Given the description of an element on the screen output the (x, y) to click on. 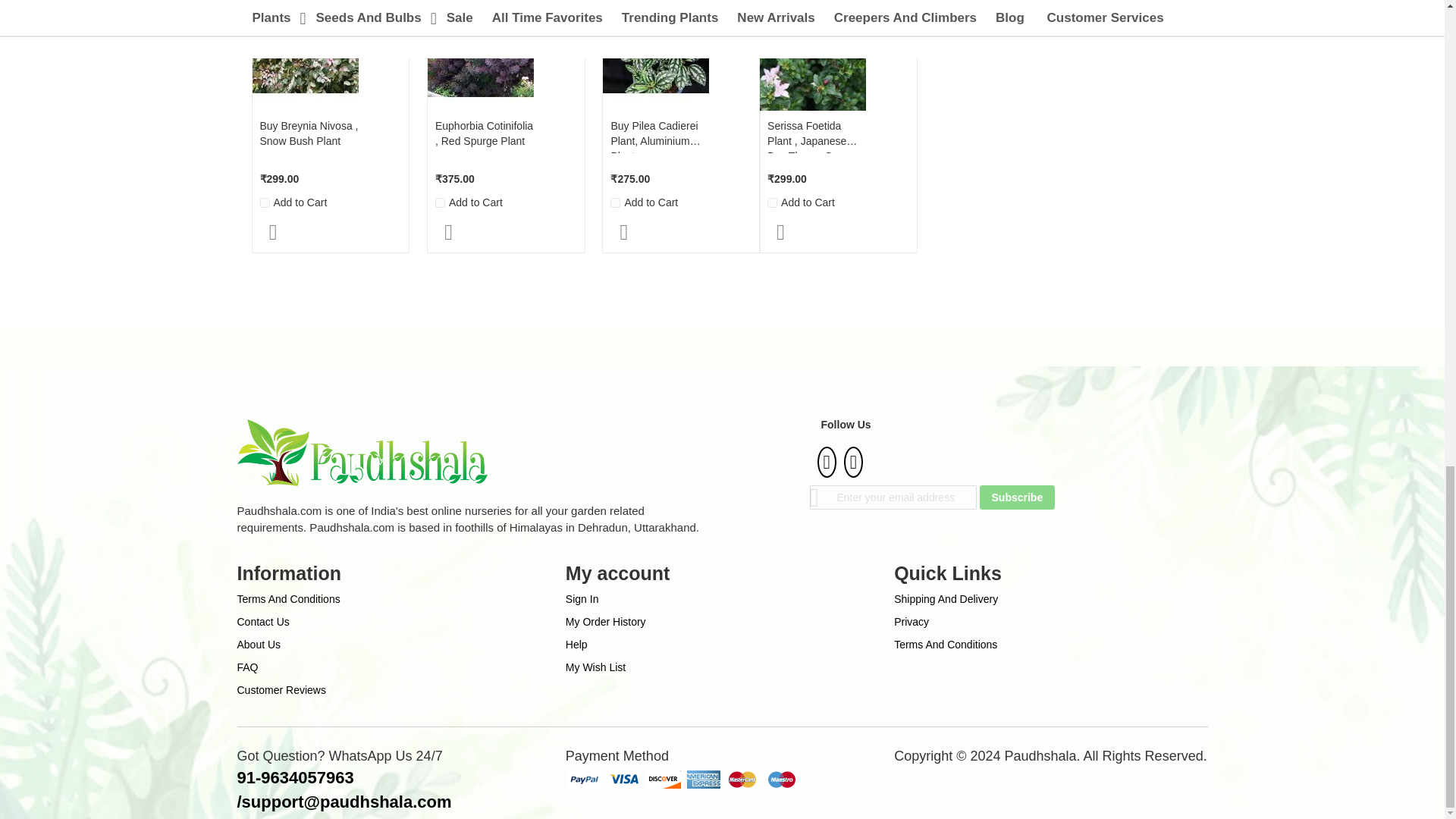
1100 (615, 203)
1050 (440, 203)
1120 (772, 203)
1025 (264, 203)
